Given the description of an element on the screen output the (x, y) to click on. 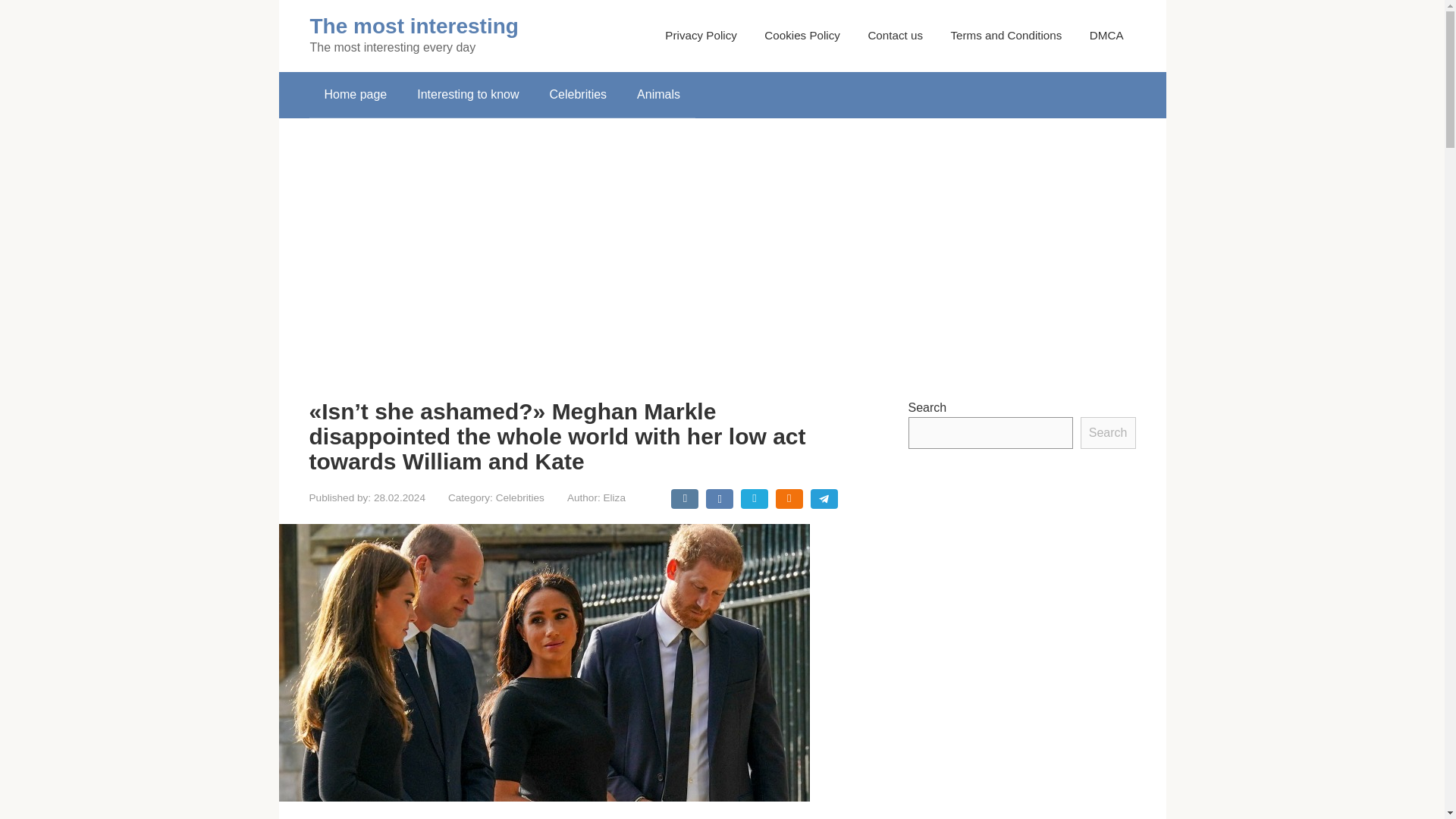
Cookies Policy (802, 35)
Contact us (895, 35)
Terms and Conditions (1005, 35)
Privacy Policy (700, 35)
Celebrities (520, 497)
Home page (355, 94)
The most interesting (413, 25)
Celebrities (578, 94)
Interesting to know (467, 94)
Animals (658, 94)
DMCA (1106, 35)
